Given the description of an element on the screen output the (x, y) to click on. 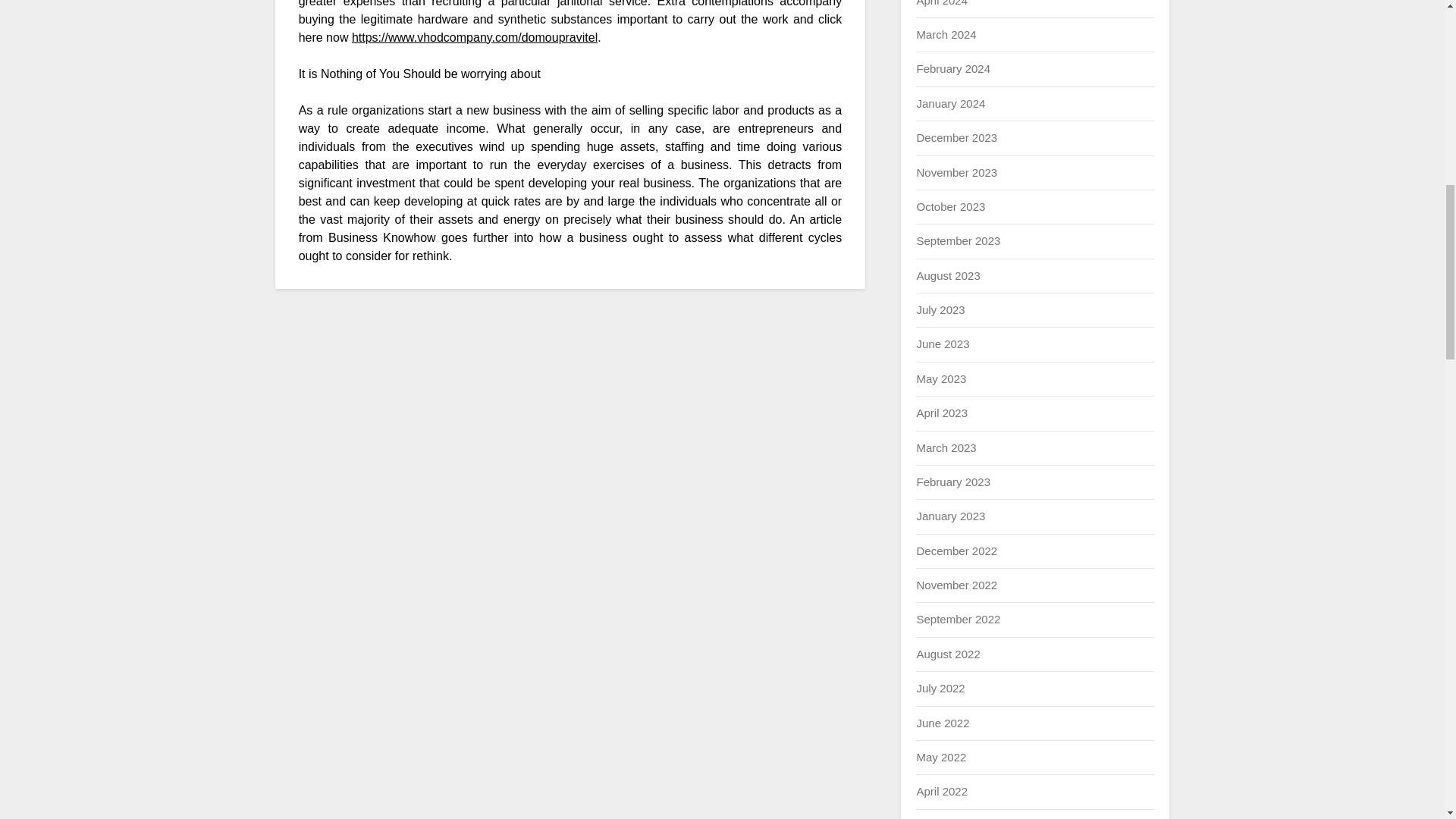
December 2023 (956, 137)
February 2024 (952, 68)
January 2024 (950, 103)
July 2023 (939, 309)
September 2023 (957, 240)
March 2024 (945, 33)
November 2023 (956, 172)
September 2022 (957, 618)
March 2023 (945, 447)
December 2022 (956, 550)
May 2023 (940, 378)
October 2023 (950, 205)
April 2024 (941, 3)
January 2023 (950, 515)
August 2023 (947, 275)
